Given the description of an element on the screen output the (x, y) to click on. 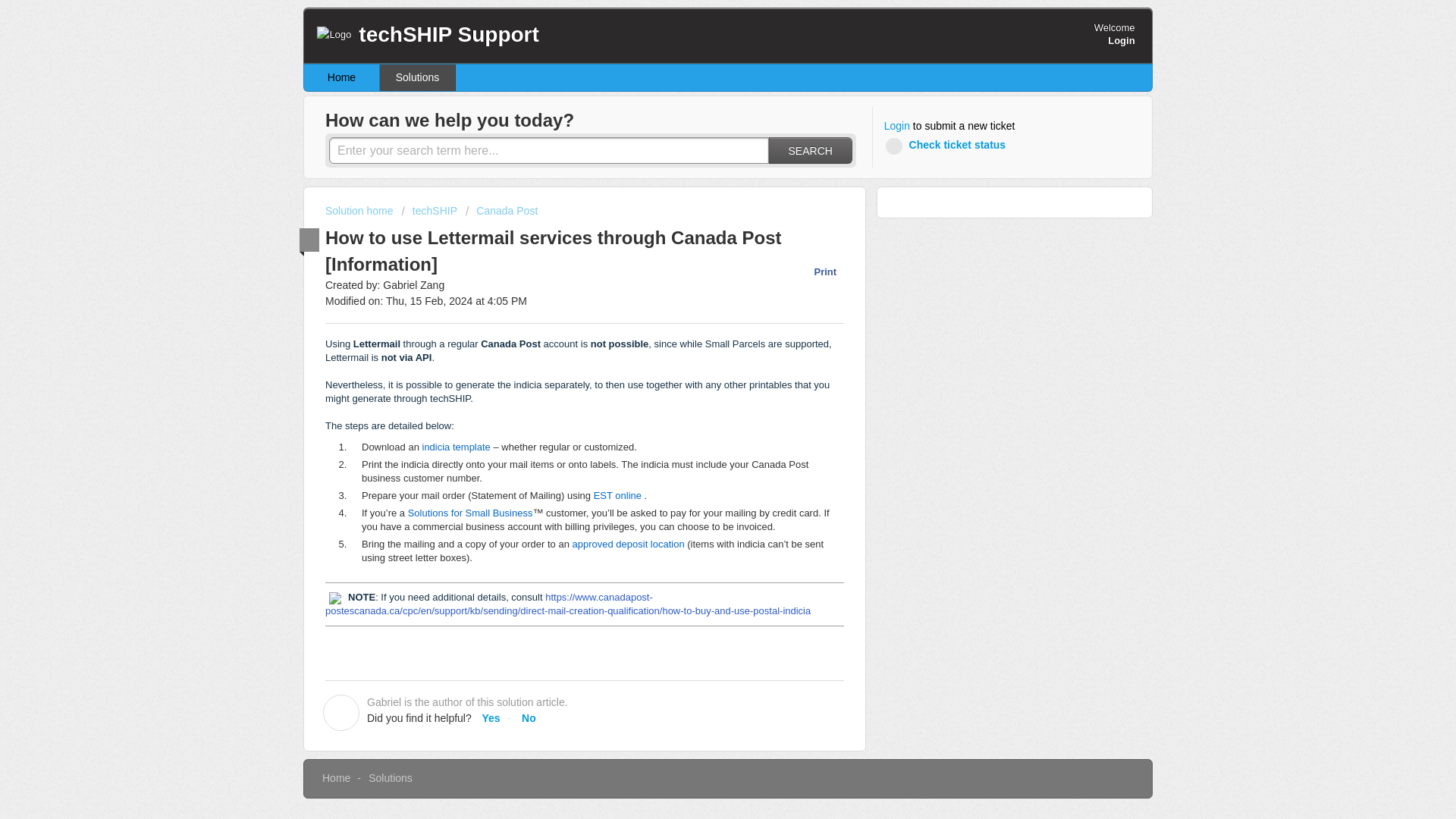
Solution home (360, 210)
Print this Article (818, 271)
Login (896, 126)
Home (335, 777)
Print (818, 271)
Solutions for Small Business (469, 512)
approved deposit location (628, 543)
Home (342, 77)
Check ticket status (947, 146)
Check ticket status (947, 146)
